Given the description of an element on the screen output the (x, y) to click on. 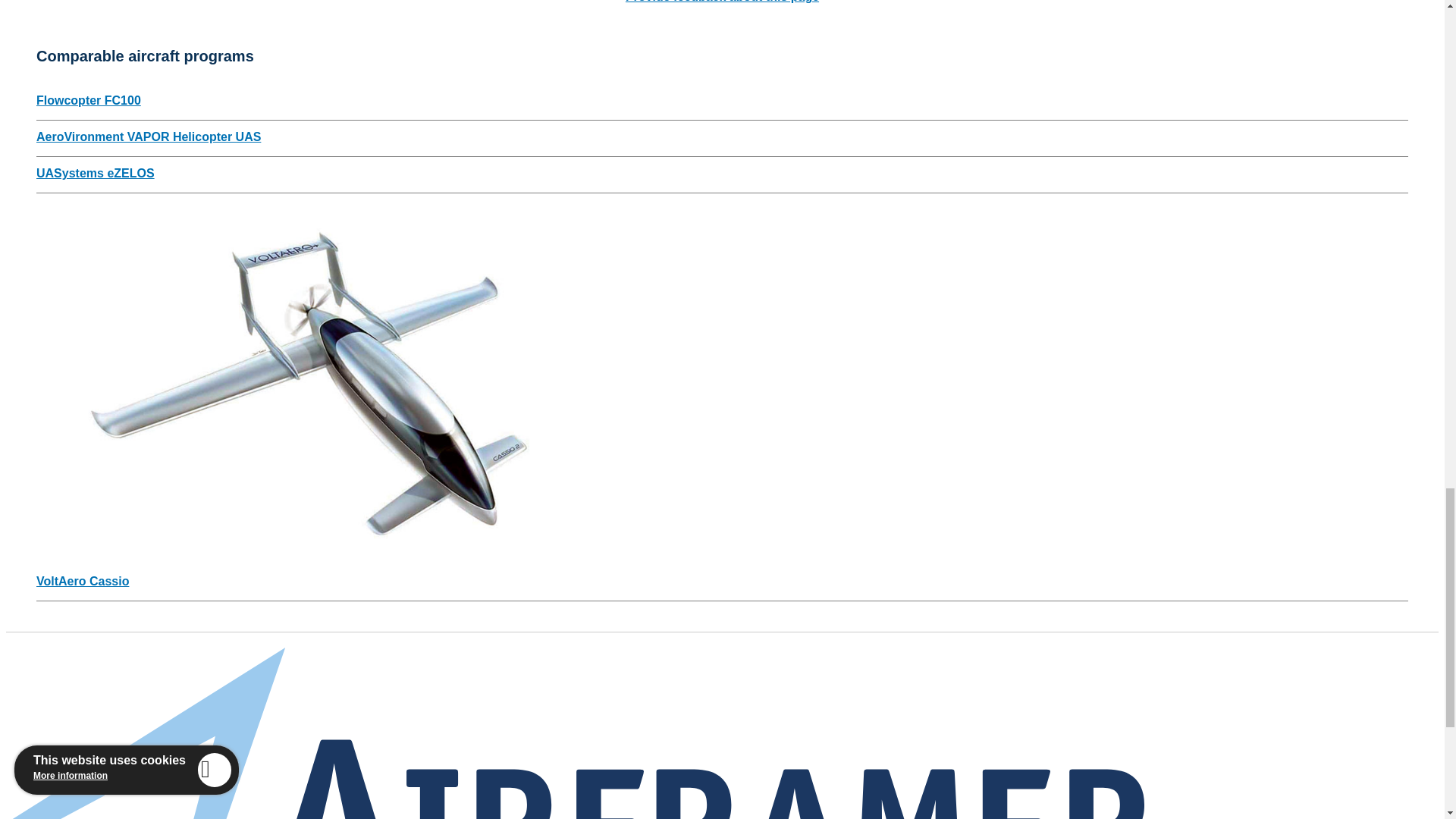
AeroVironment VAPOR Helicopter UAS (148, 136)
VoltAero Cassio (82, 581)
Provide feedback about this page (722, 1)
UASystems eZELOS (95, 173)
Flowcopter FC100 (88, 100)
